Given the description of an element on the screen output the (x, y) to click on. 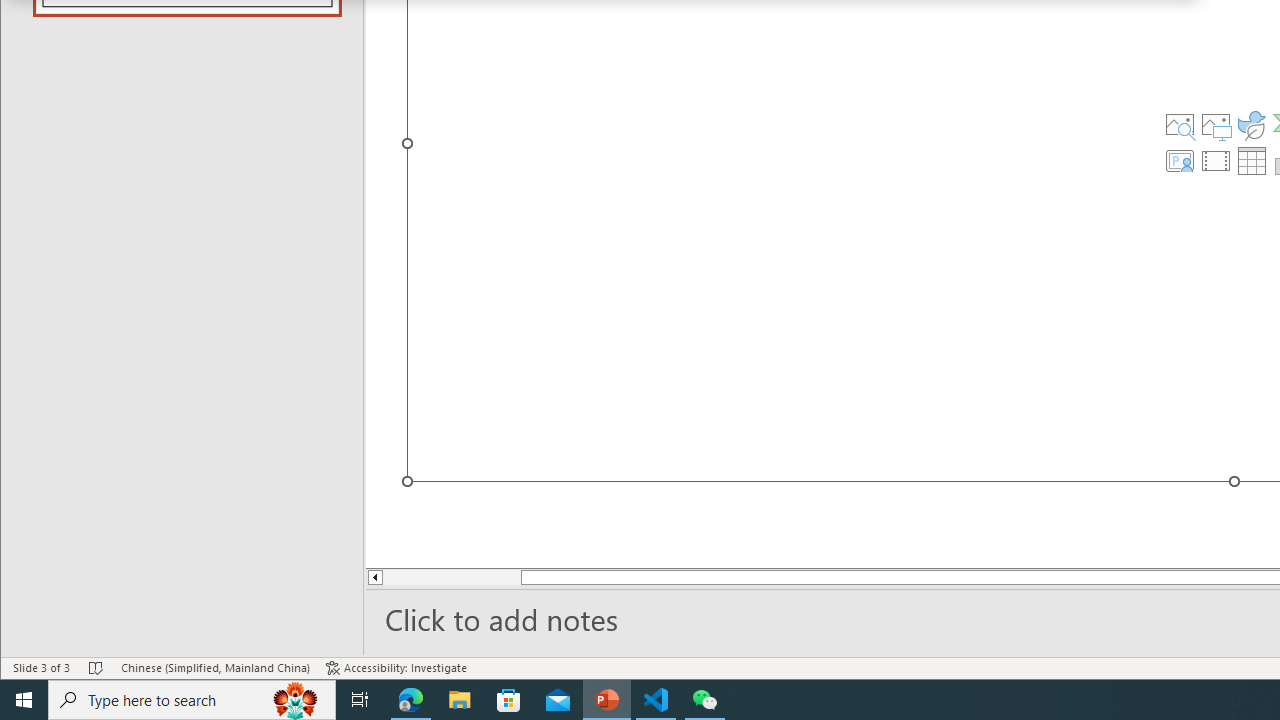
Stock Images (1179, 124)
Insert an Icon (1252, 124)
Insert Cameo (1179, 160)
